Given the description of an element on the screen output the (x, y) to click on. 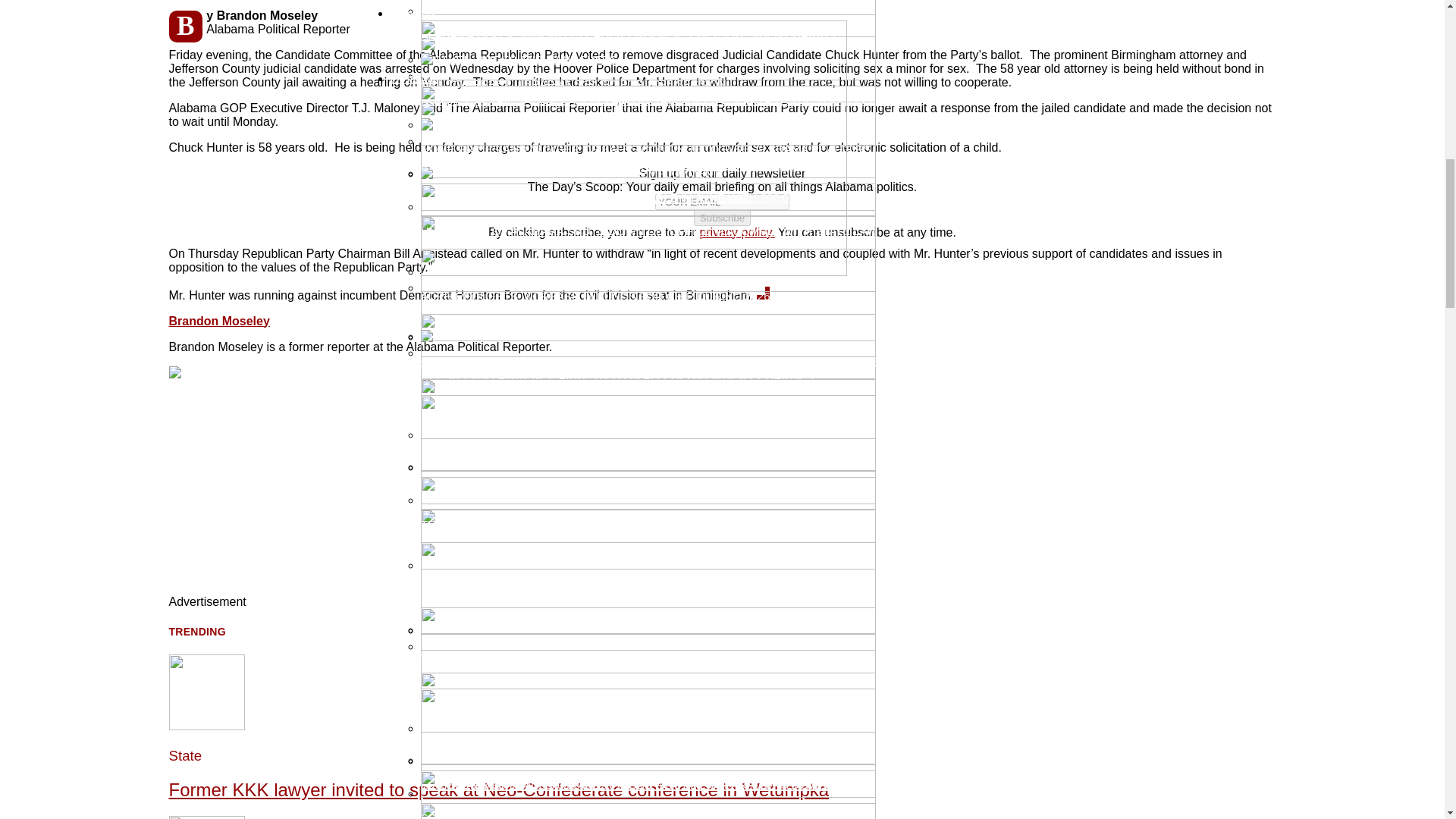
GOV. IVEY APPOINTS NEW TALLADEGA COUNTY DISTRICT JUDGE (705, 348)
YES, KAMALA HARRIS CAN BE ON THE BALLOT IN ALABAMA (705, 102)
Subscribe (722, 217)
ODD SERIES OF EVENTS COULD SEE NEW REP IN HD52 BY AUGUST (705, 811)
